Given the description of an element on the screen output the (x, y) to click on. 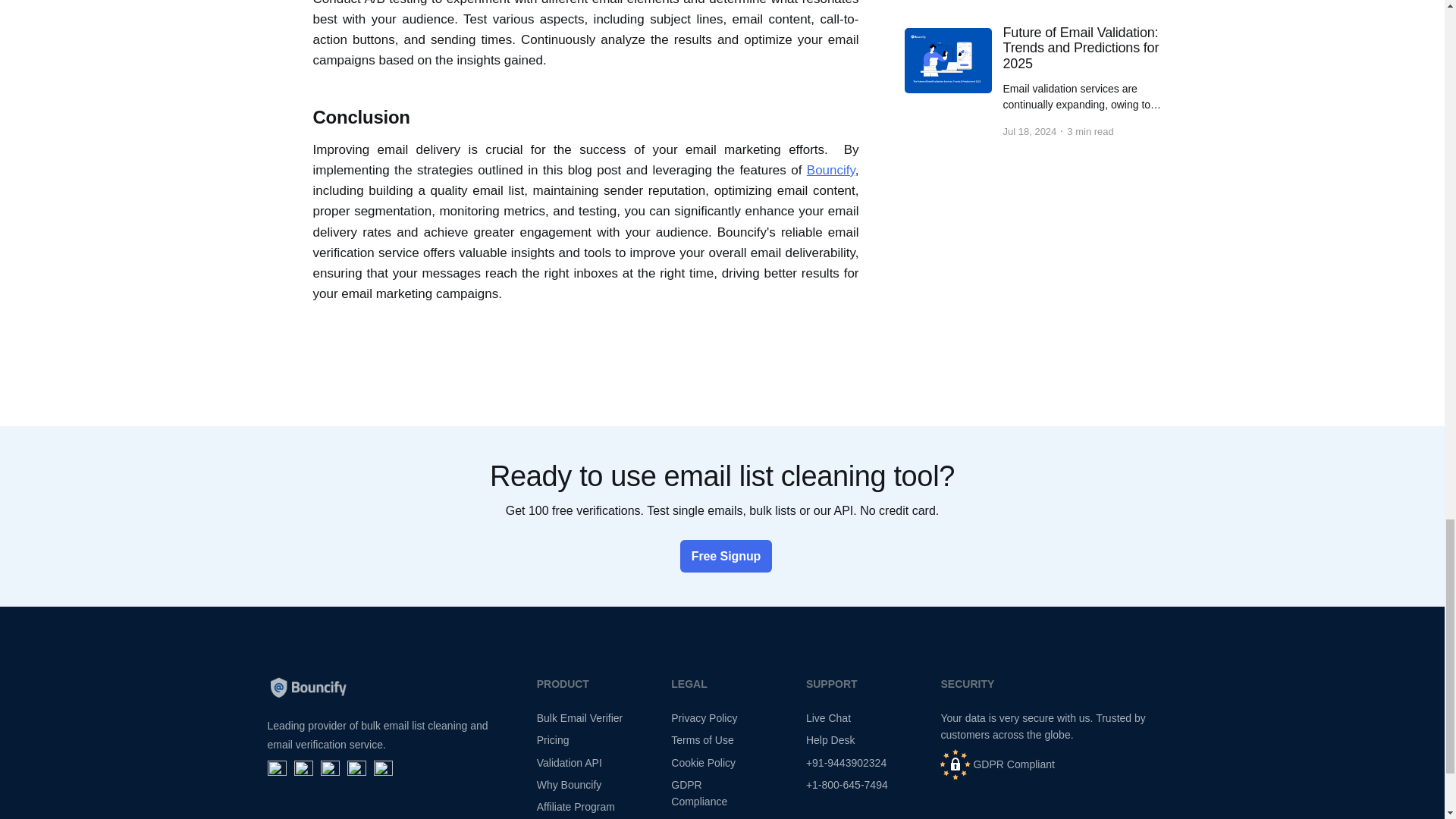
GDPR Compliance (698, 792)
Privacy Policy (703, 717)
Bulk Email Verifier (580, 717)
Pricing (553, 739)
Bouncify (831, 169)
Live Chat (828, 717)
Free Signup (722, 556)
Validation API (569, 762)
Cookie Policy (703, 762)
Terms of Use (702, 739)
